Given the description of an element on the screen output the (x, y) to click on. 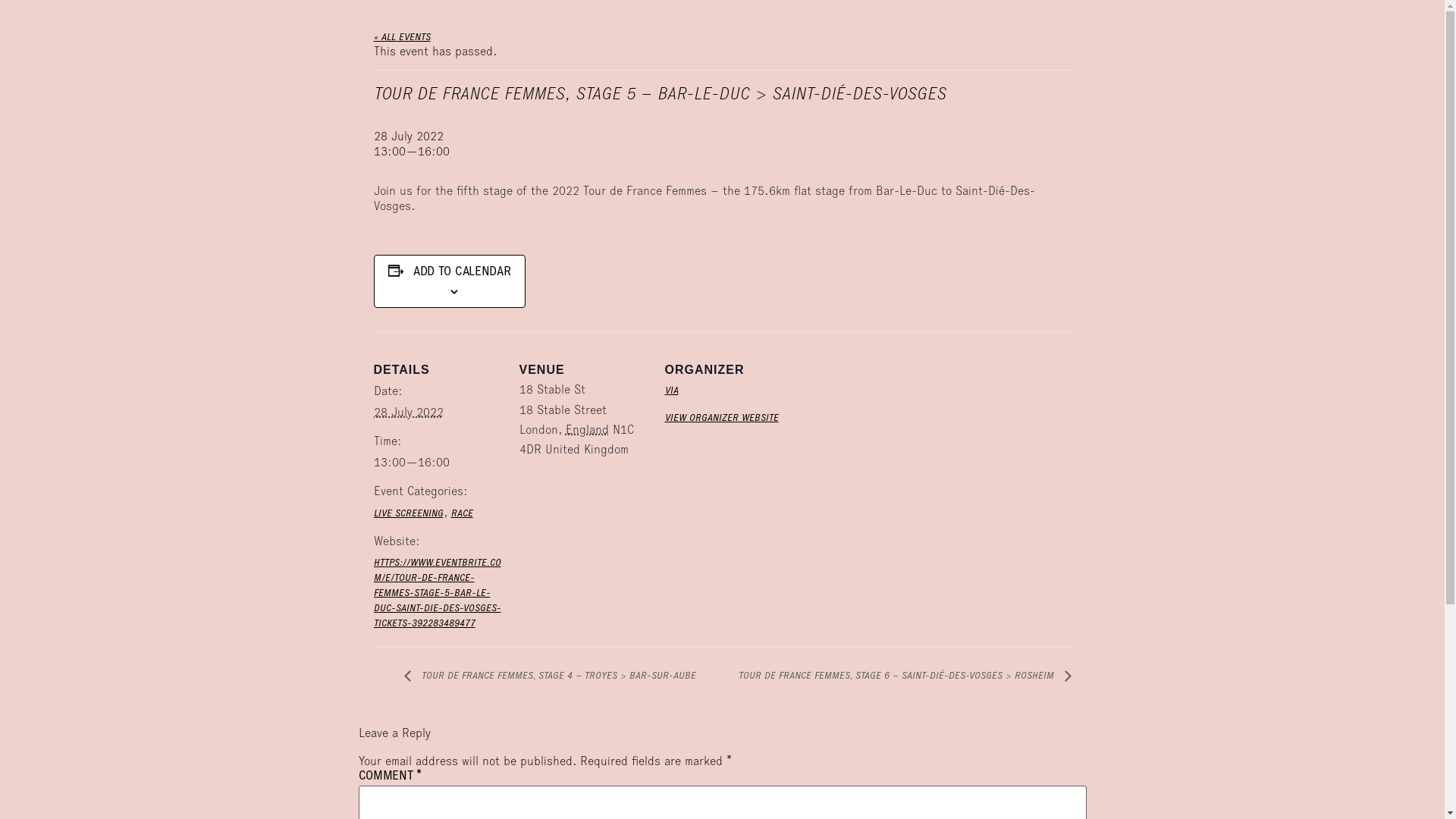
VIA Element type: text (670, 390)
LIVE SCREENING Element type: text (407, 513)
RACE Element type: text (461, 513)
ADD TO CALENDAR Element type: text (462, 273)
VIEW ORGANIZER WEBSITE Element type: text (721, 418)
